Given the description of an element on the screen output the (x, y) to click on. 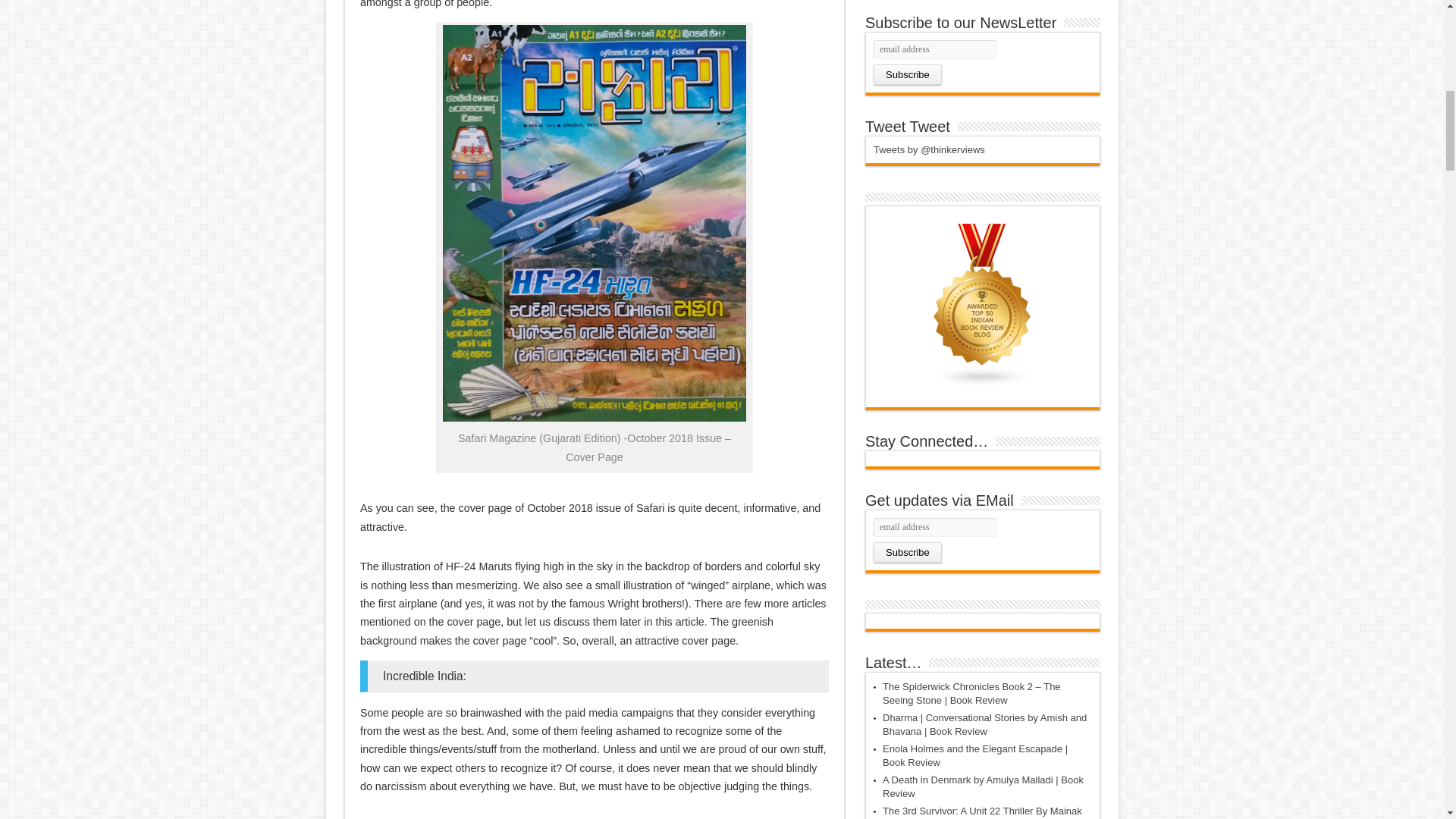
Subscribe (907, 552)
Subscribe (907, 74)
